Given the description of an element on the screen output the (x, y) to click on. 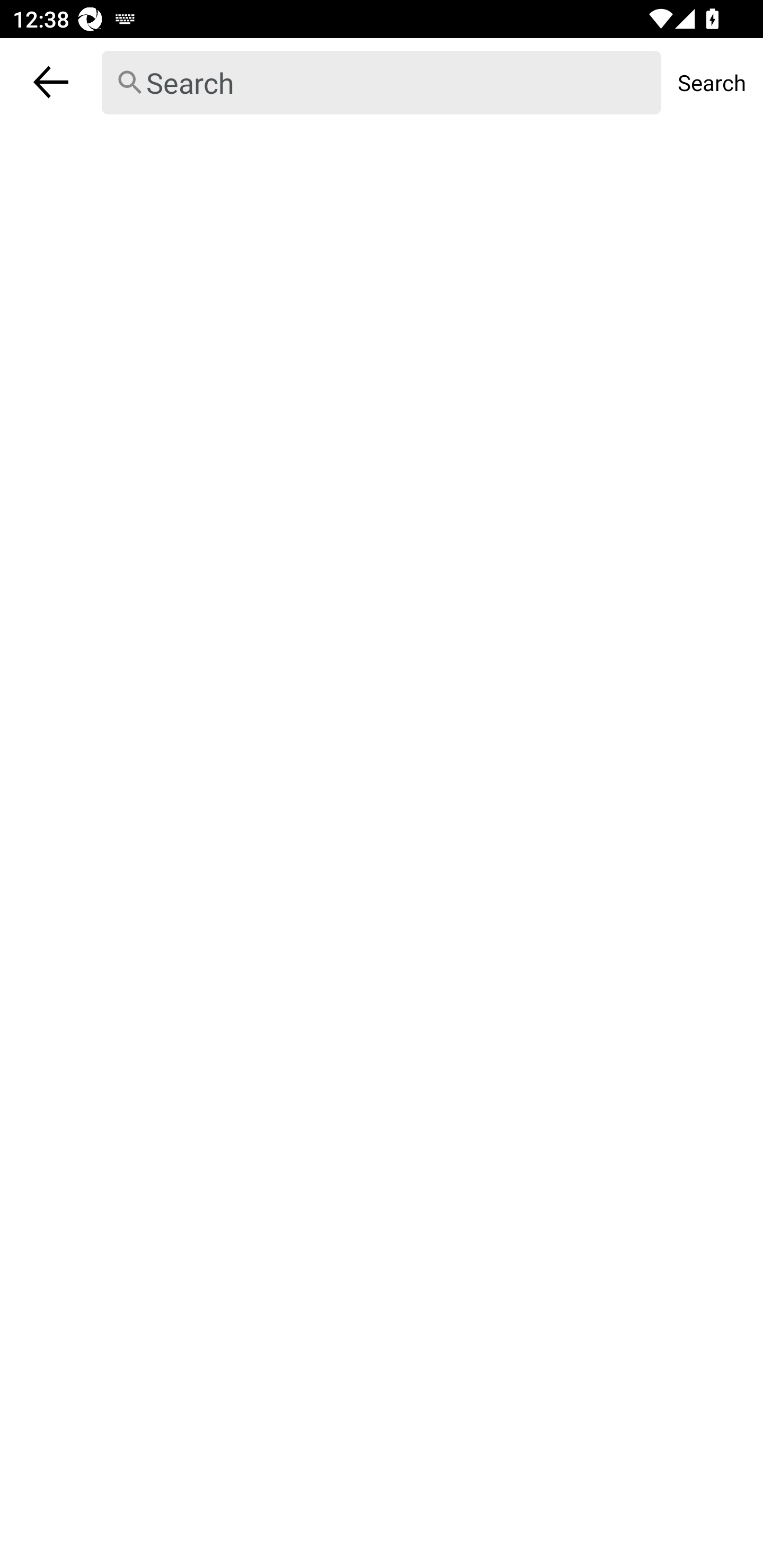
close (50, 81)
search Search (381, 82)
Search (381, 82)
Search (711, 82)
